Given the description of an element on the screen output the (x, y) to click on. 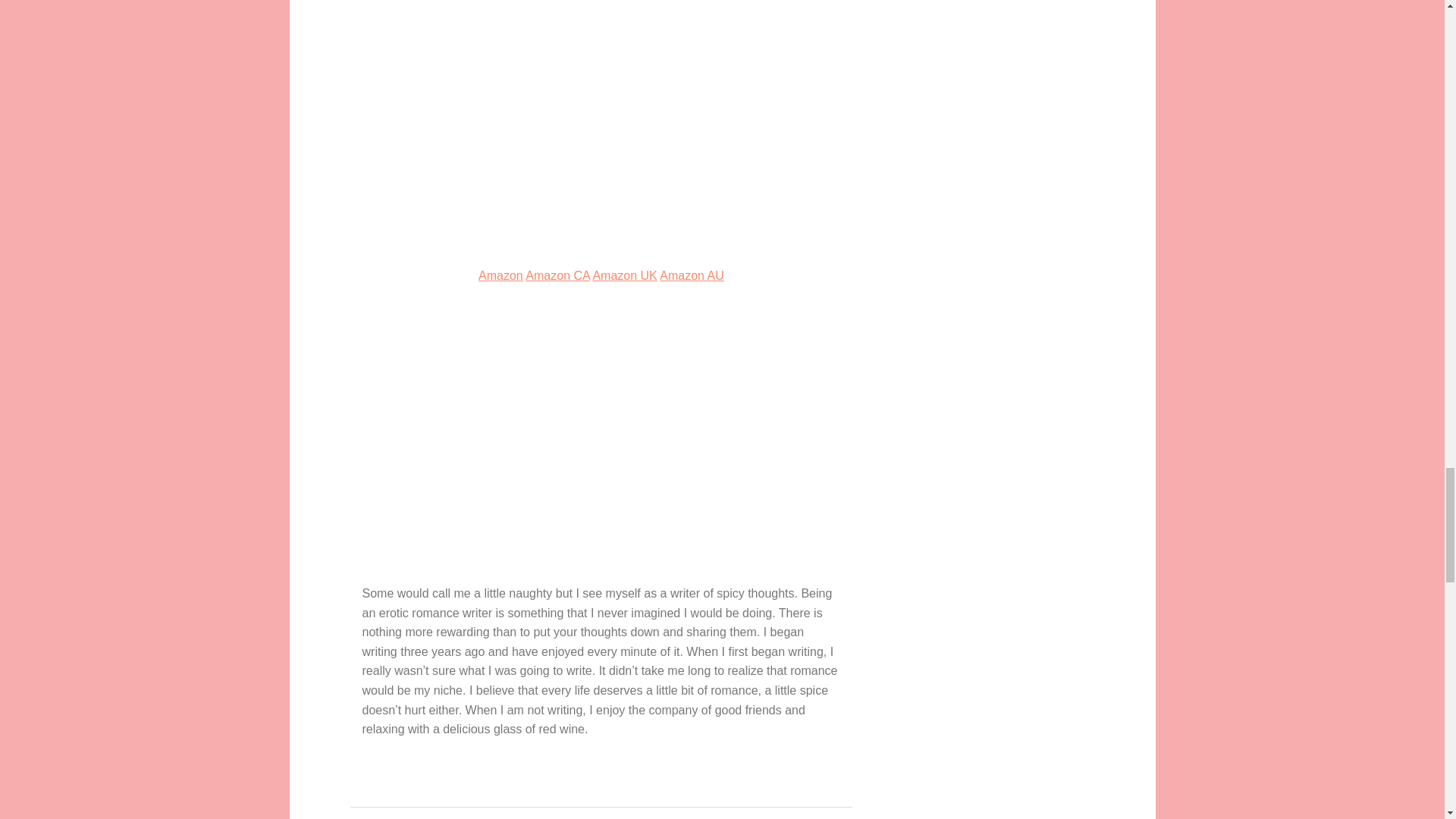
Amazon UK (624, 275)
Amazon AU (691, 275)
Amazon CA (557, 275)
Amazon (500, 275)
